Given the description of an element on the screen output the (x, y) to click on. 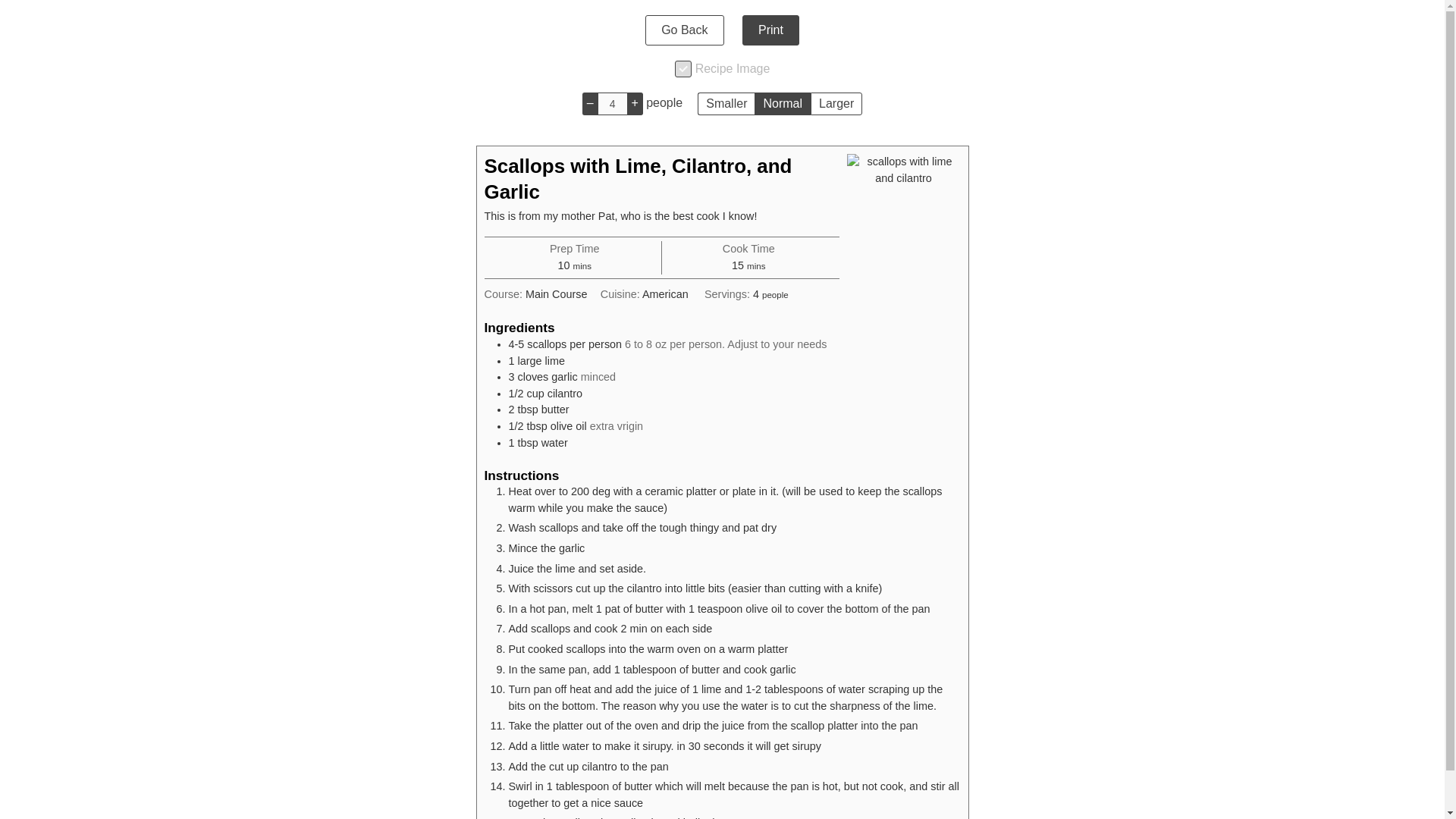
Larger (835, 103)
4 (611, 103)
Smaller (725, 103)
Normal (782, 103)
Print (770, 30)
Go Back (684, 30)
